Given the description of an element on the screen output the (x, y) to click on. 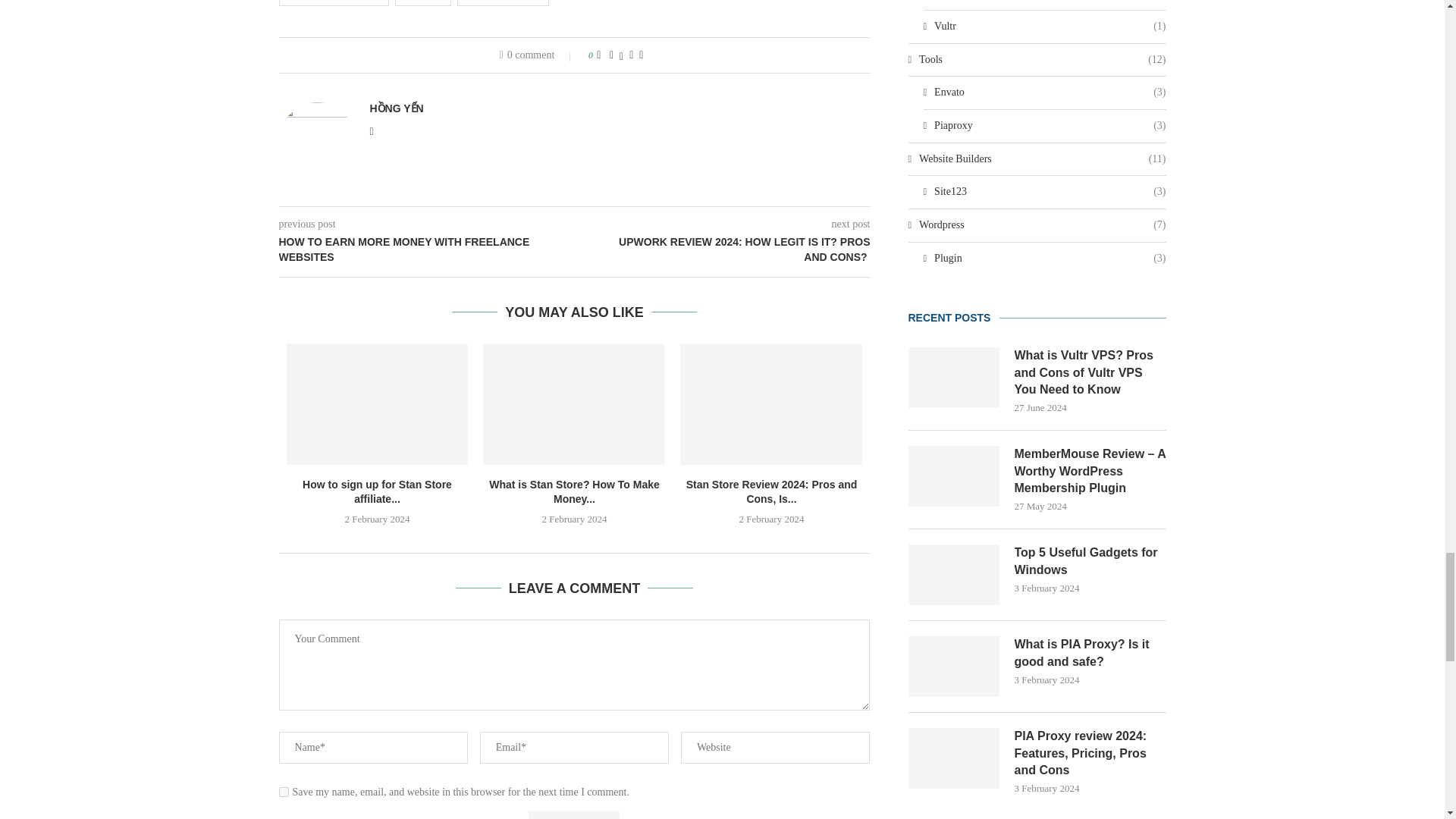
FREELANCE WEBSITES (334, 2)
UPWORK (422, 2)
WHAT IS UPWORK (502, 2)
yes (283, 791)
Like (597, 55)
HOW TO EARN MORE MONEY WITH FREELANCE WEBSITES (427, 249)
Submit (574, 814)
UPWORK REVIEW 2024: HOW LEGIT IS IT? PROS AND CONS?  (722, 249)
